Given the description of an element on the screen output the (x, y) to click on. 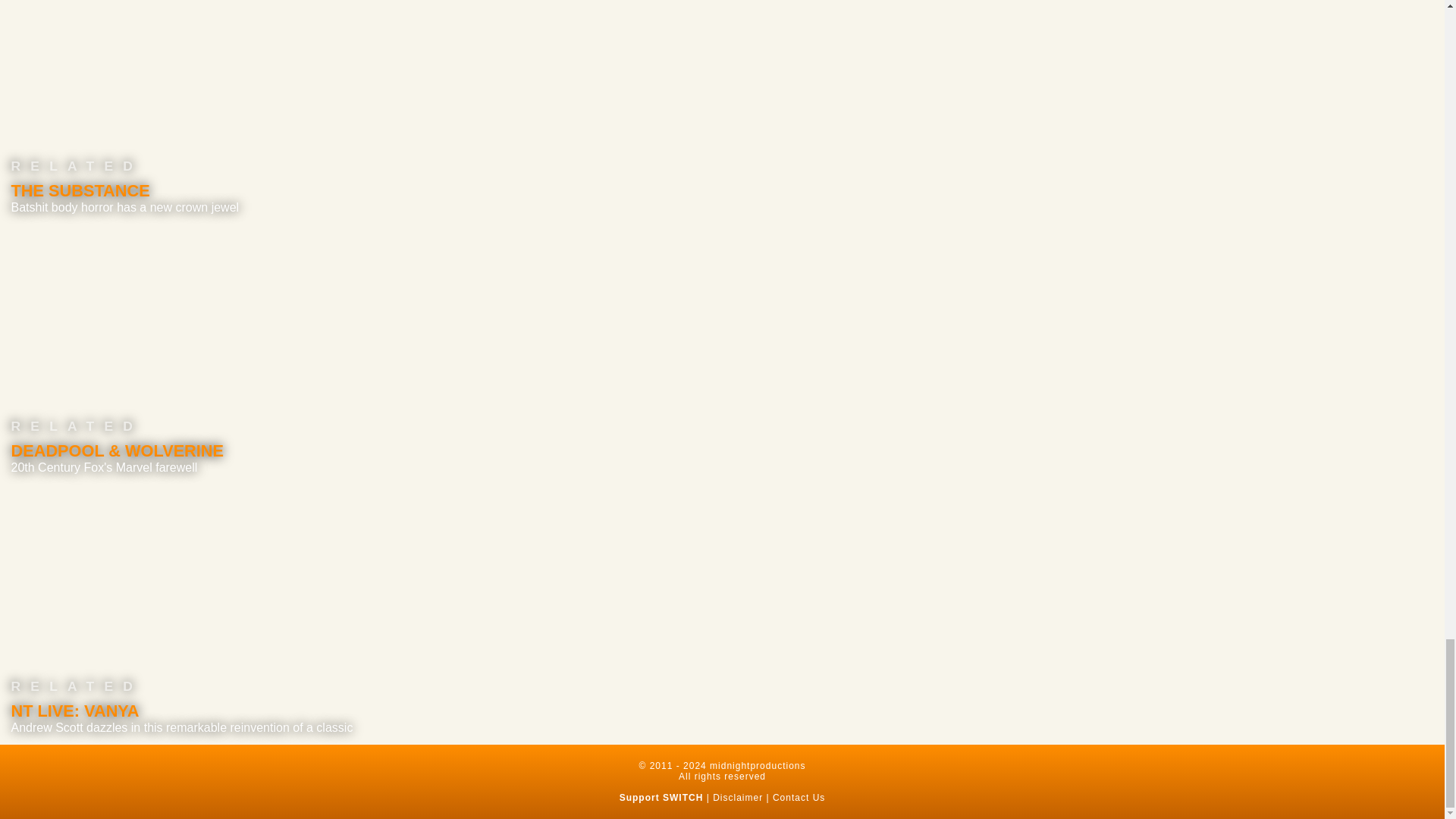
midnightproductions (757, 765)
Support SWITCH (661, 797)
Disclaimer (737, 797)
Contact Us (799, 797)
